Given the description of an element on the screen output the (x, y) to click on. 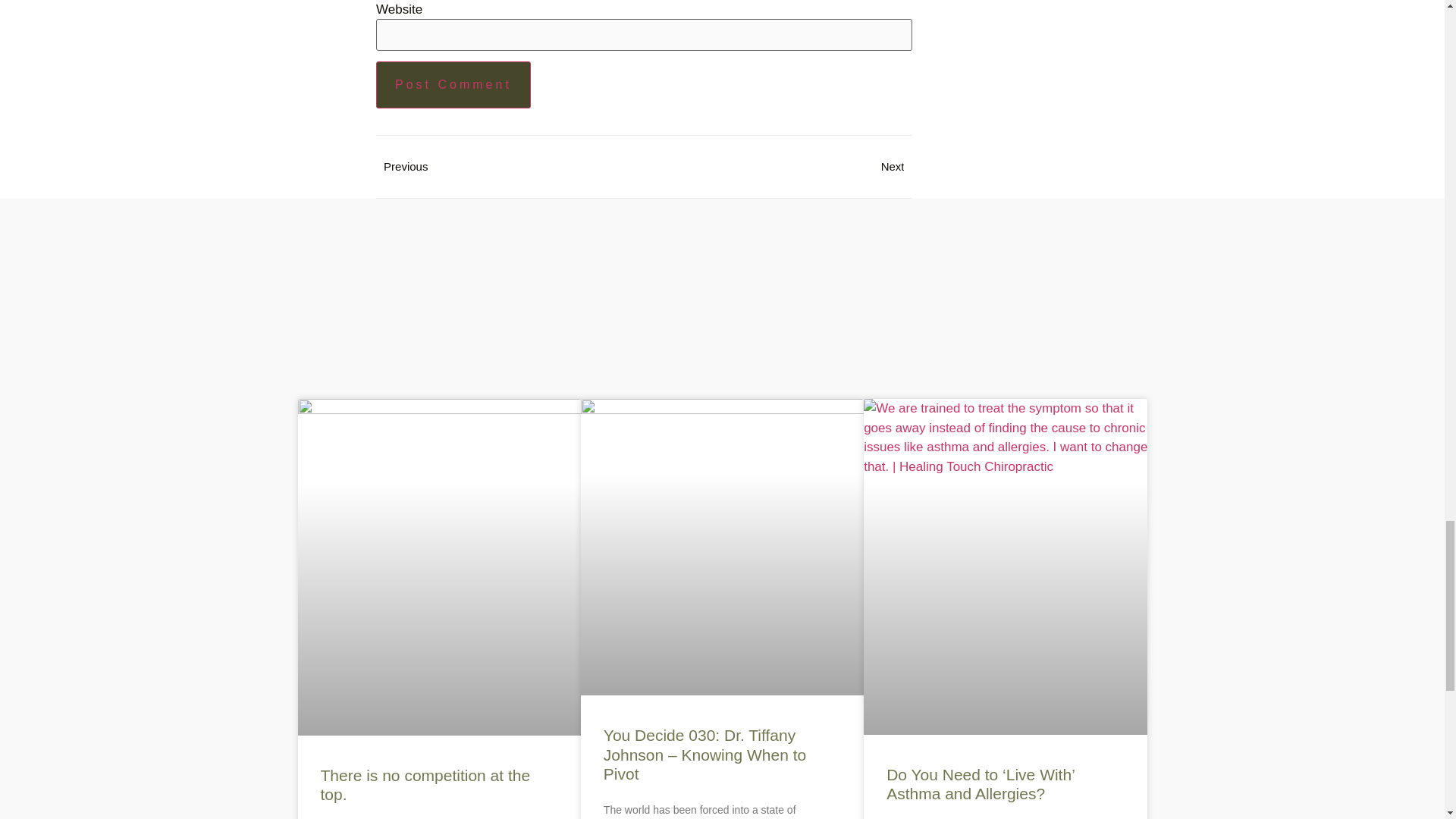
Post Comment (453, 84)
Next (777, 167)
Post Comment (453, 84)
Previous (509, 167)
